Given the description of an element on the screen output the (x, y) to click on. 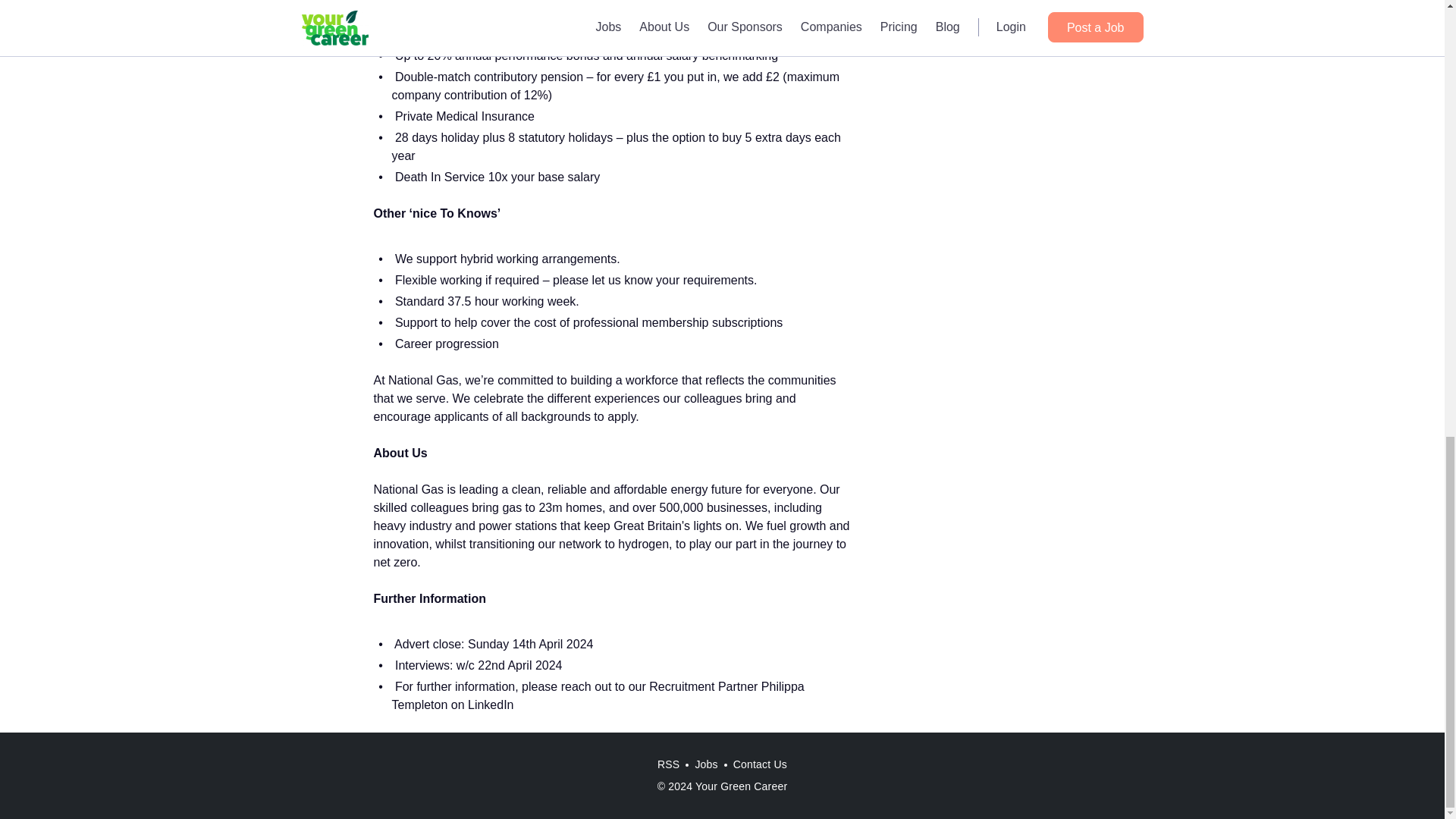
RSS (668, 764)
Contact Us (759, 764)
Jobs (706, 764)
